Given the description of an element on the screen output the (x, y) to click on. 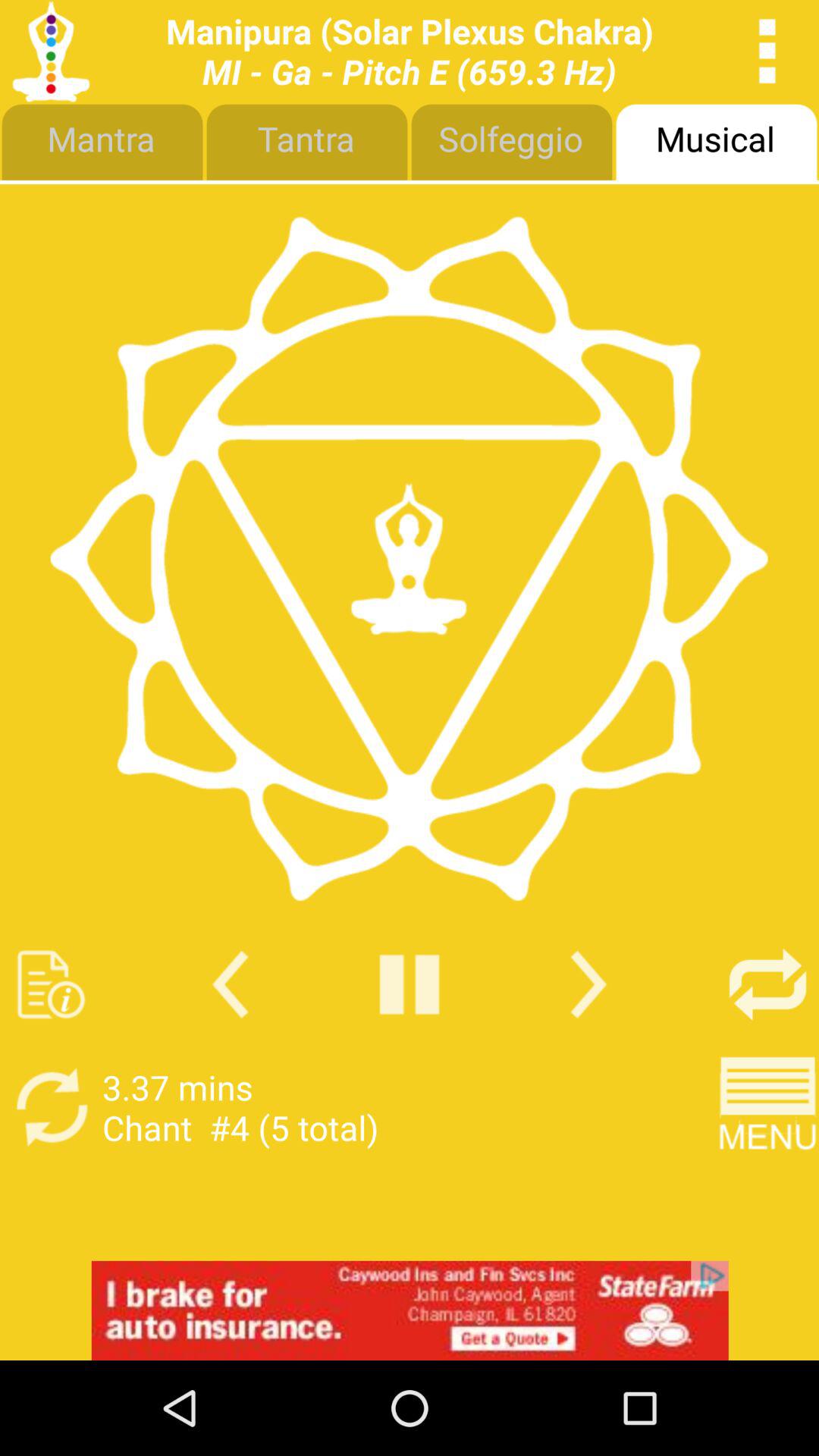
google advertisements (409, 1310)
